Given the description of an element on the screen output the (x, y) to click on. 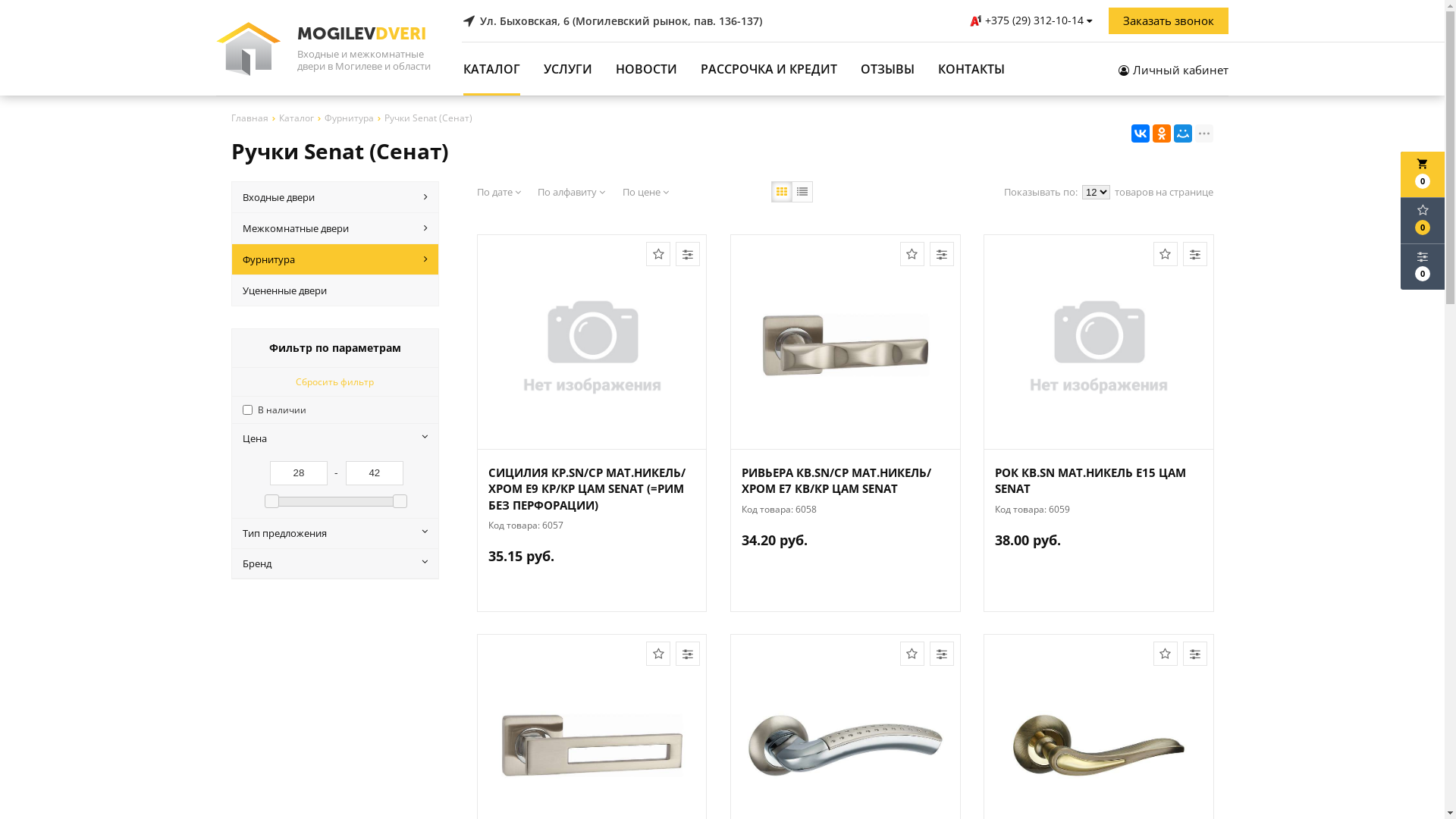
0 Element type: text (1422, 266)
0 Element type: text (1422, 220)
+375 (29) 312-10-14 Element type: text (1032, 20)
local_grocery_store
0 Element type: text (1422, 174)
